Given the description of an element on the screen output the (x, y) to click on. 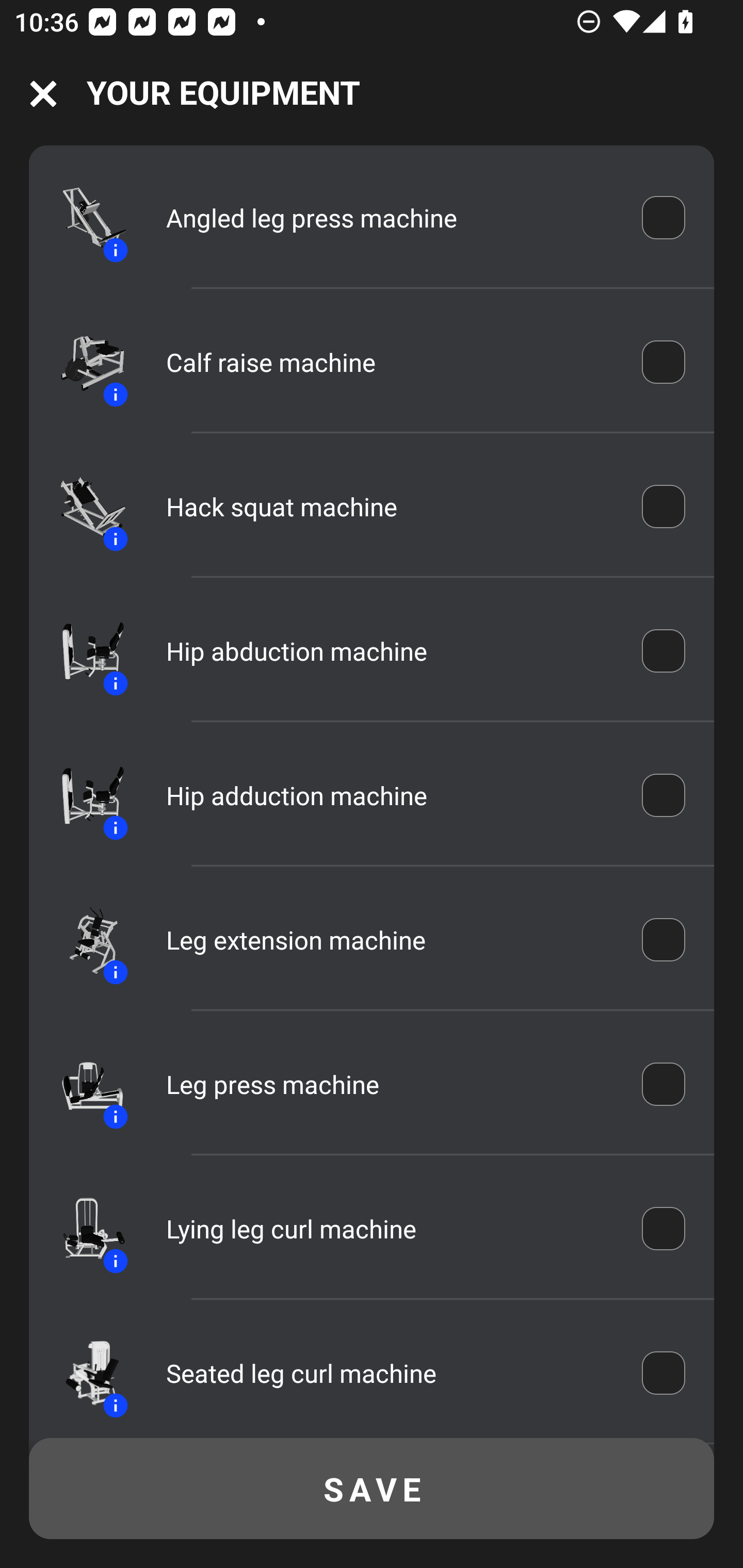
Navigation icon (43, 93)
Equipment icon Information icon (82, 217)
Angled leg press machine (389, 217)
Equipment icon Information icon (82, 361)
Calf raise machine (389, 362)
Equipment icon Information icon (82, 506)
Hack squat machine (389, 506)
Equipment icon Information icon (82, 651)
Hip abduction machine (389, 651)
Equipment icon Information icon (82, 795)
Hip adduction machine (389, 795)
Equipment icon Information icon (82, 939)
Leg extension machine (389, 939)
Equipment icon Information icon (82, 1084)
Leg press machine (389, 1084)
Equipment icon Information icon (82, 1228)
Lying leg curl machine (389, 1228)
Equipment icon Information icon (82, 1372)
Seated leg curl machine (389, 1372)
SAVE (371, 1488)
